Given the description of an element on the screen output the (x, y) to click on. 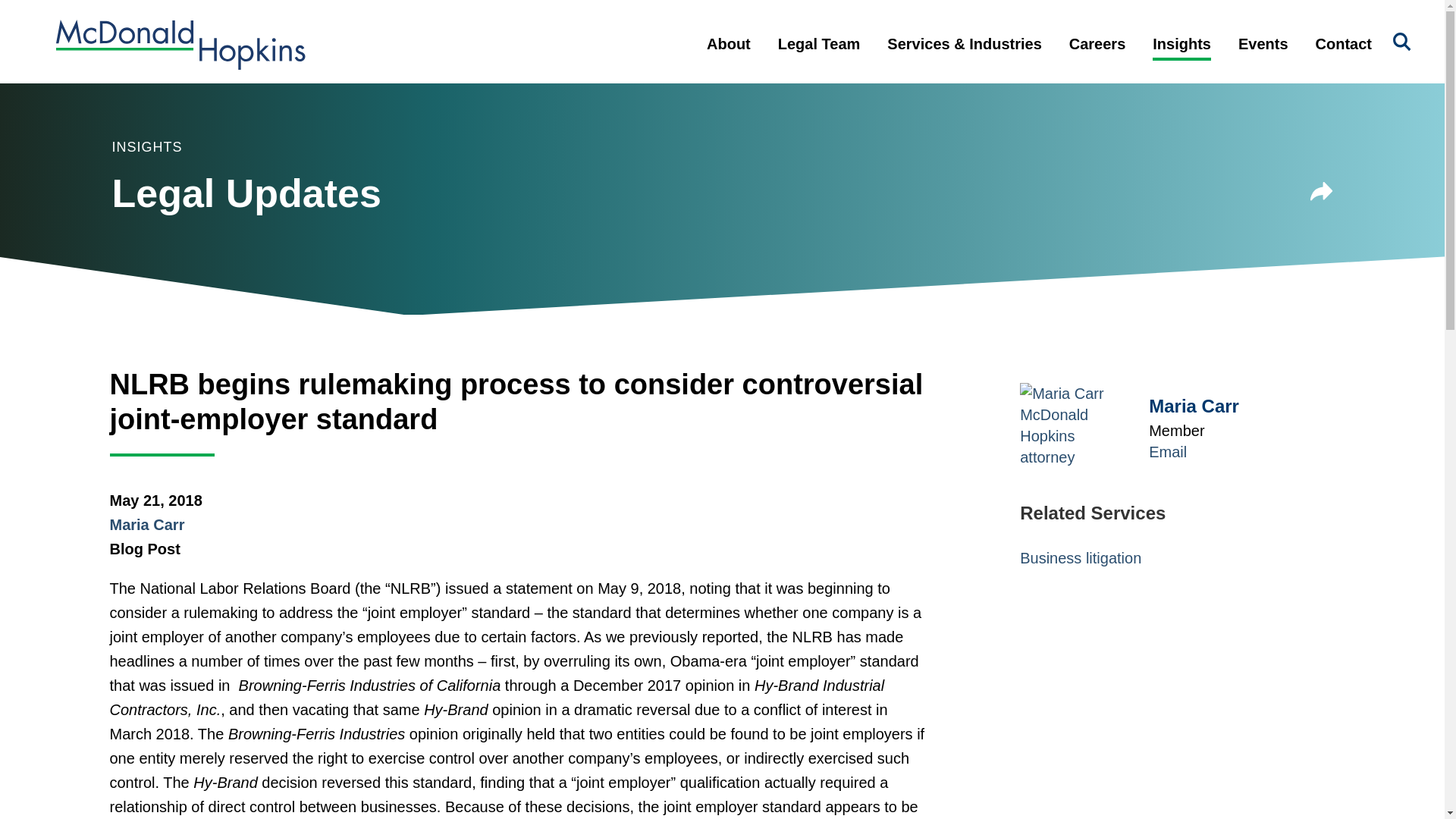
Contact (1343, 55)
Search (1401, 41)
About (728, 55)
Share (1321, 190)
Menu (673, 20)
Main Menu (673, 20)
Main Content (666, 20)
Share (1321, 194)
Share (1321, 194)
Insights (1181, 55)
Careers (1097, 55)
Events (1262, 55)
Legal Team (819, 55)
